Given the description of an element on the screen output the (x, y) to click on. 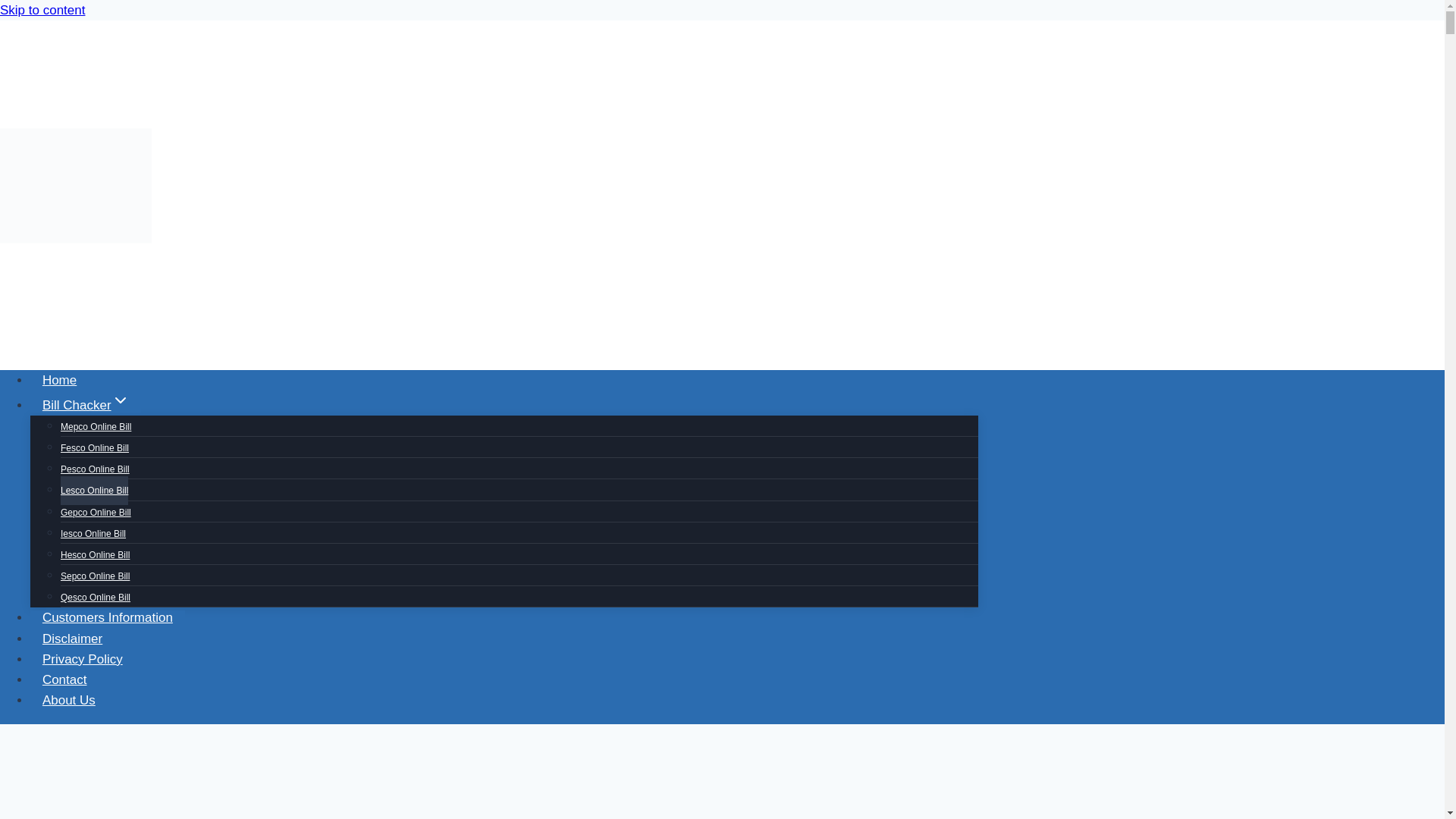
Mepco Online Bill (96, 426)
Bill ChackerExpand (85, 405)
Pesco Online Bill (95, 469)
Privacy Policy (82, 658)
Fesco Online Bill (95, 448)
Qesco Online Bill (96, 597)
Hesco Online Bill (95, 554)
Home (59, 380)
Customers Information (107, 617)
Skip to content (42, 10)
Expand (120, 400)
Lesco Online Bill (94, 490)
Skip to content (42, 10)
Sepco Online Bill (95, 575)
Iesco Online Bill (93, 533)
